Given the description of an element on the screen output the (x, y) to click on. 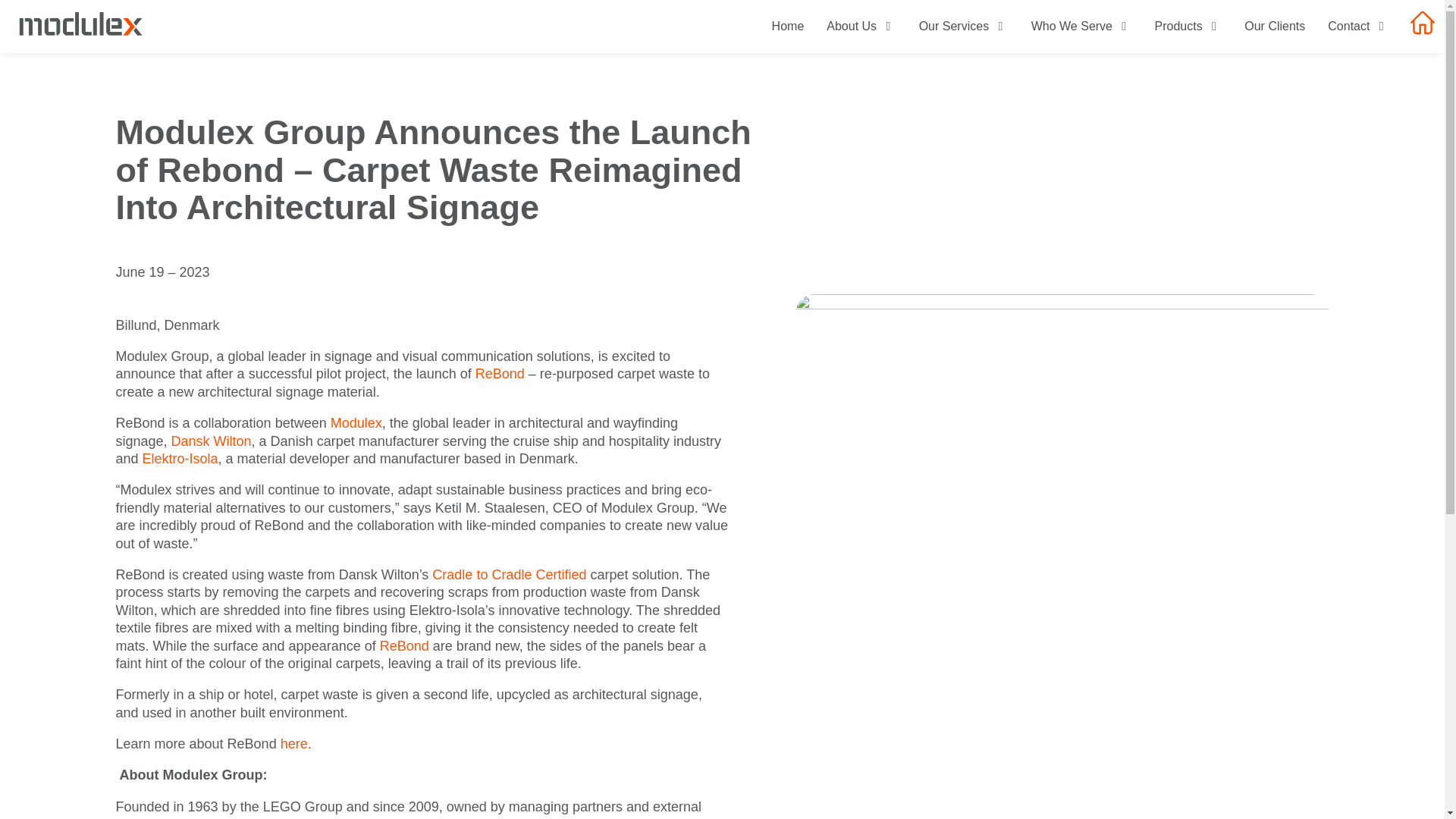
Home (788, 26)
ReBond (502, 373)
Modulex (353, 422)
here. (296, 743)
Products (1188, 26)
ReBond (406, 645)
About Us (861, 26)
Contact (1358, 26)
Our Clients (1274, 26)
Our Services (963, 26)
